Given the description of an element on the screen output the (x, y) to click on. 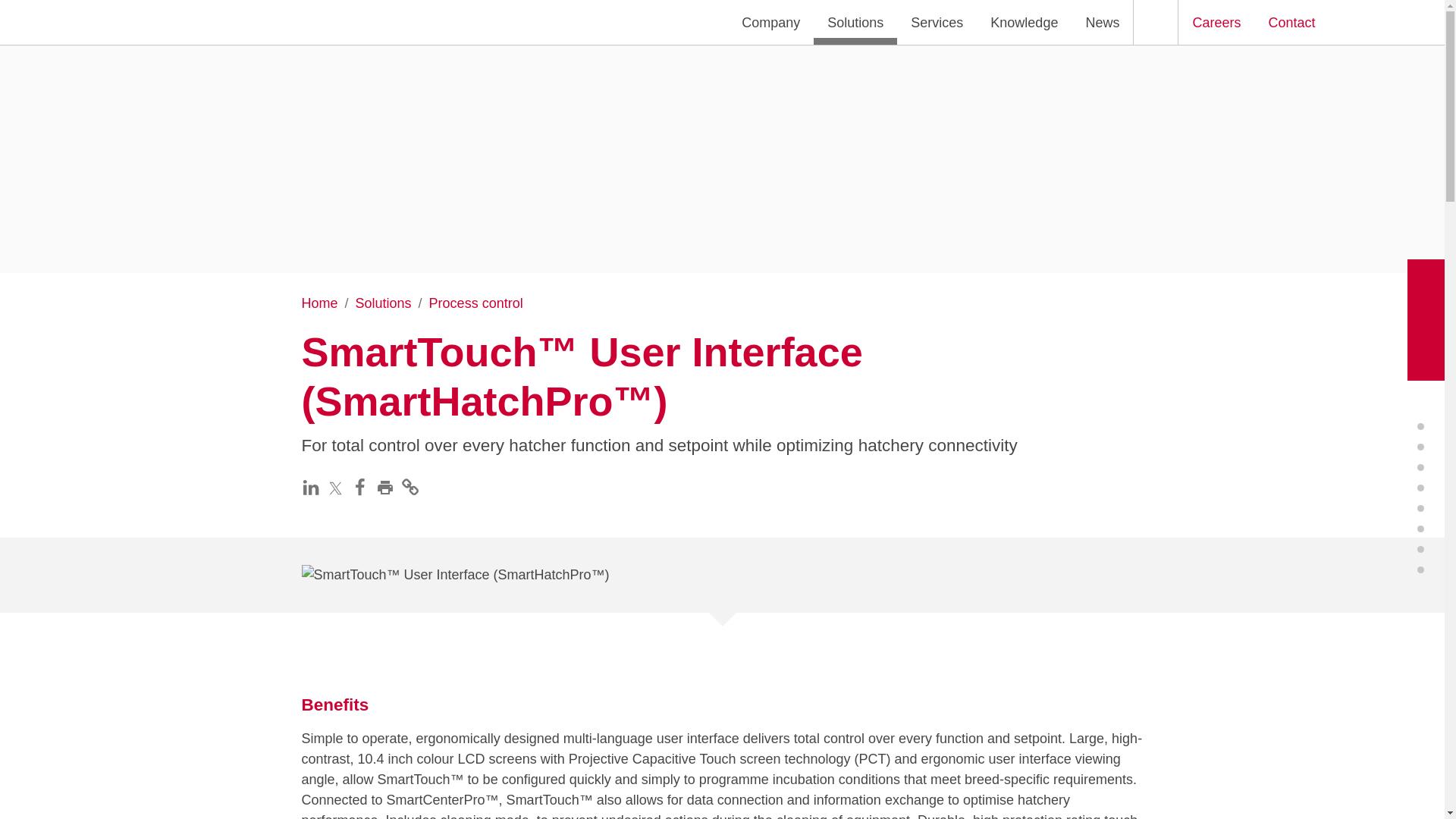
Search (1154, 22)
Print (388, 486)
home (151, 22)
Company (770, 22)
Facebook (362, 486)
Solutions (854, 22)
Knowledge (1023, 22)
Careers (1215, 22)
News (1101, 22)
Solutions (383, 303)
